Given the description of an element on the screen output the (x, y) to click on. 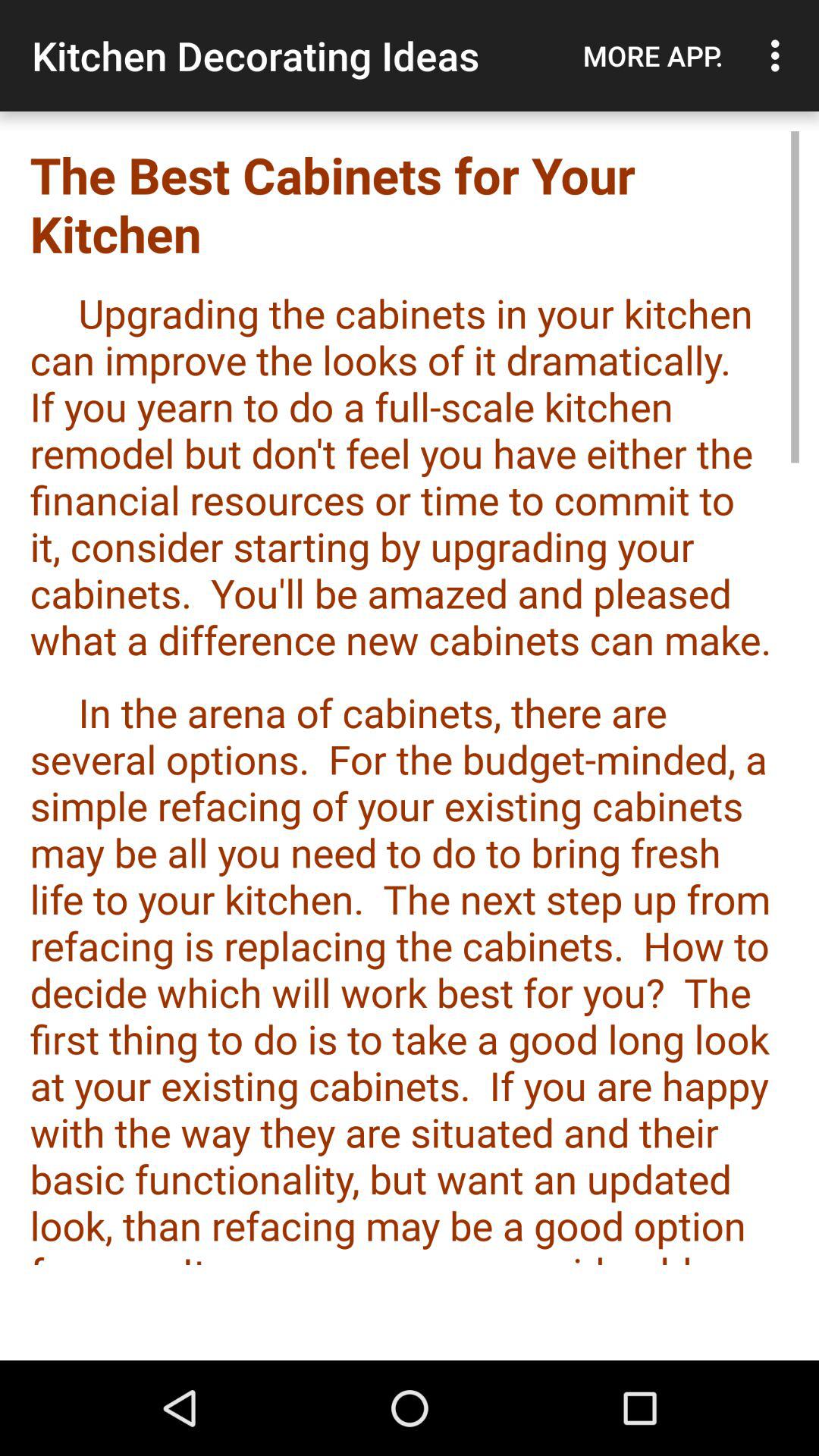
press the item to the right of the more app. item (779, 55)
